Given the description of an element on the screen output the (x, y) to click on. 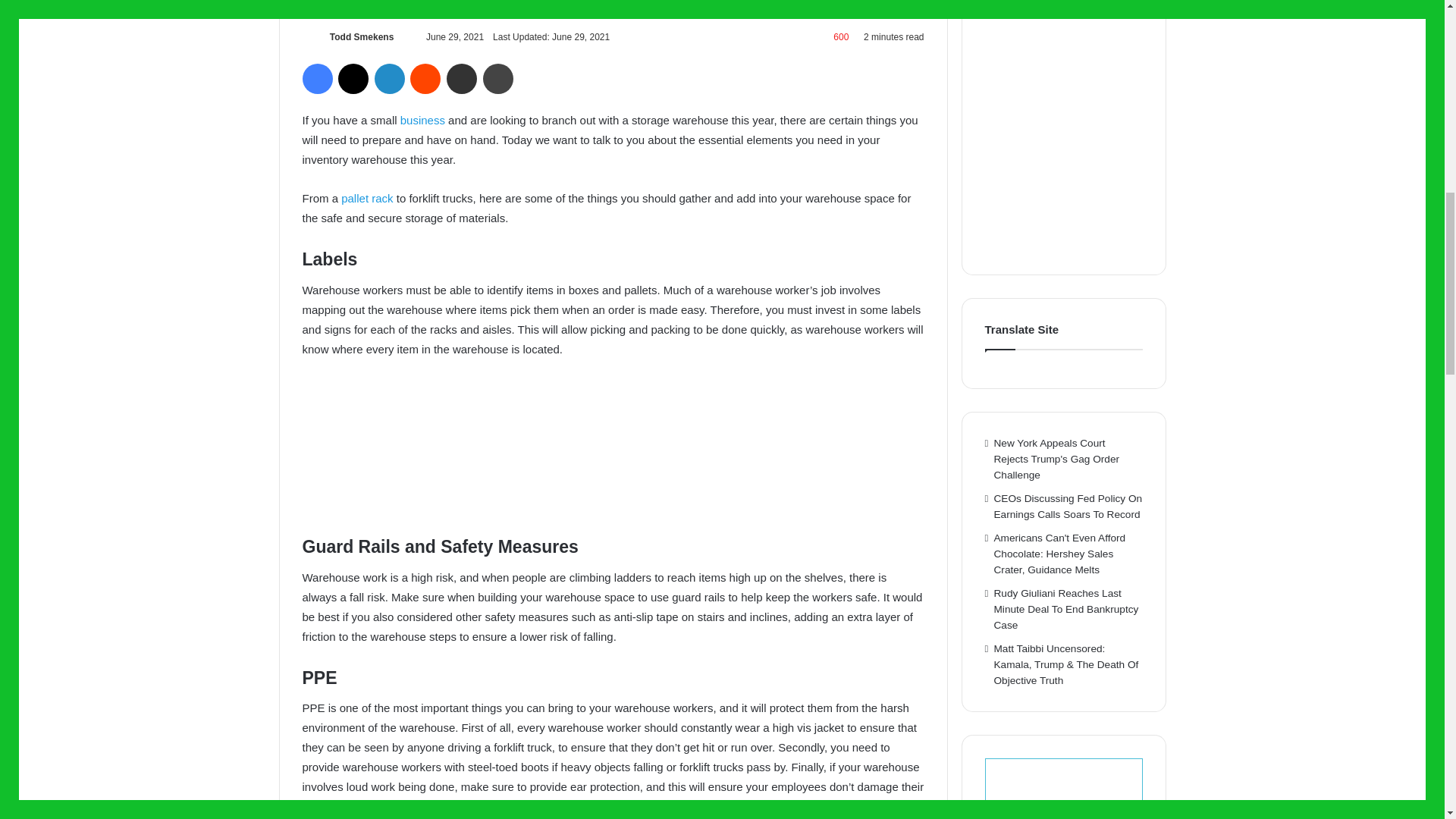
business (422, 119)
Todd Smekens (361, 36)
LinkedIn (389, 78)
Facebook (316, 78)
Reddit (425, 78)
Share via Email (461, 78)
Print (498, 78)
Facebook (316, 78)
Todd Smekens (361, 36)
X (352, 78)
X (352, 78)
Share via Email (461, 78)
Reddit (425, 78)
Print (498, 78)
LinkedIn (389, 78)
